Given the description of an element on the screen output the (x, y) to click on. 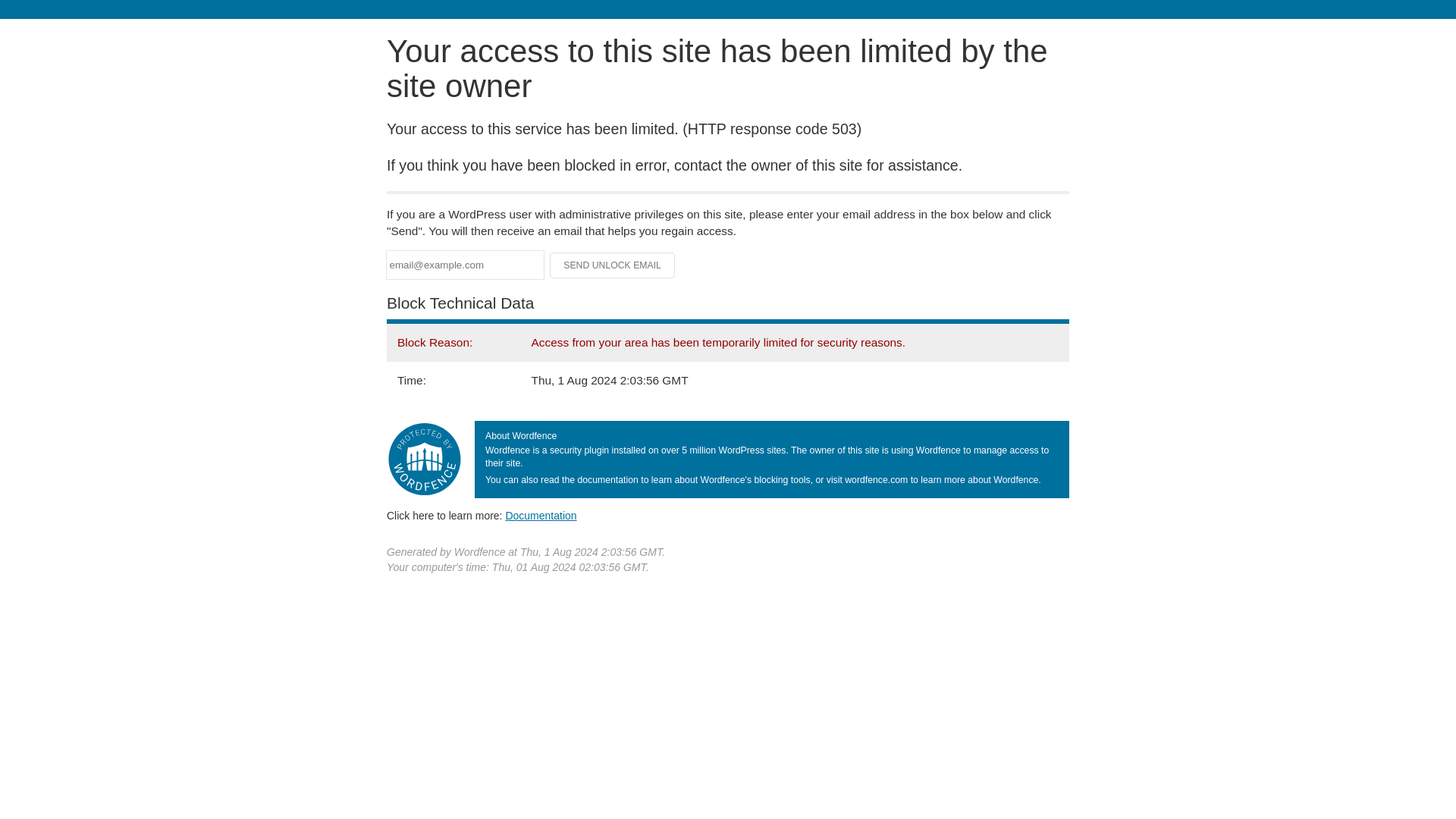
Send Unlock Email (612, 265)
Documentation (540, 515)
Send Unlock Email (612, 265)
